Given the description of an element on the screen output the (x, y) to click on. 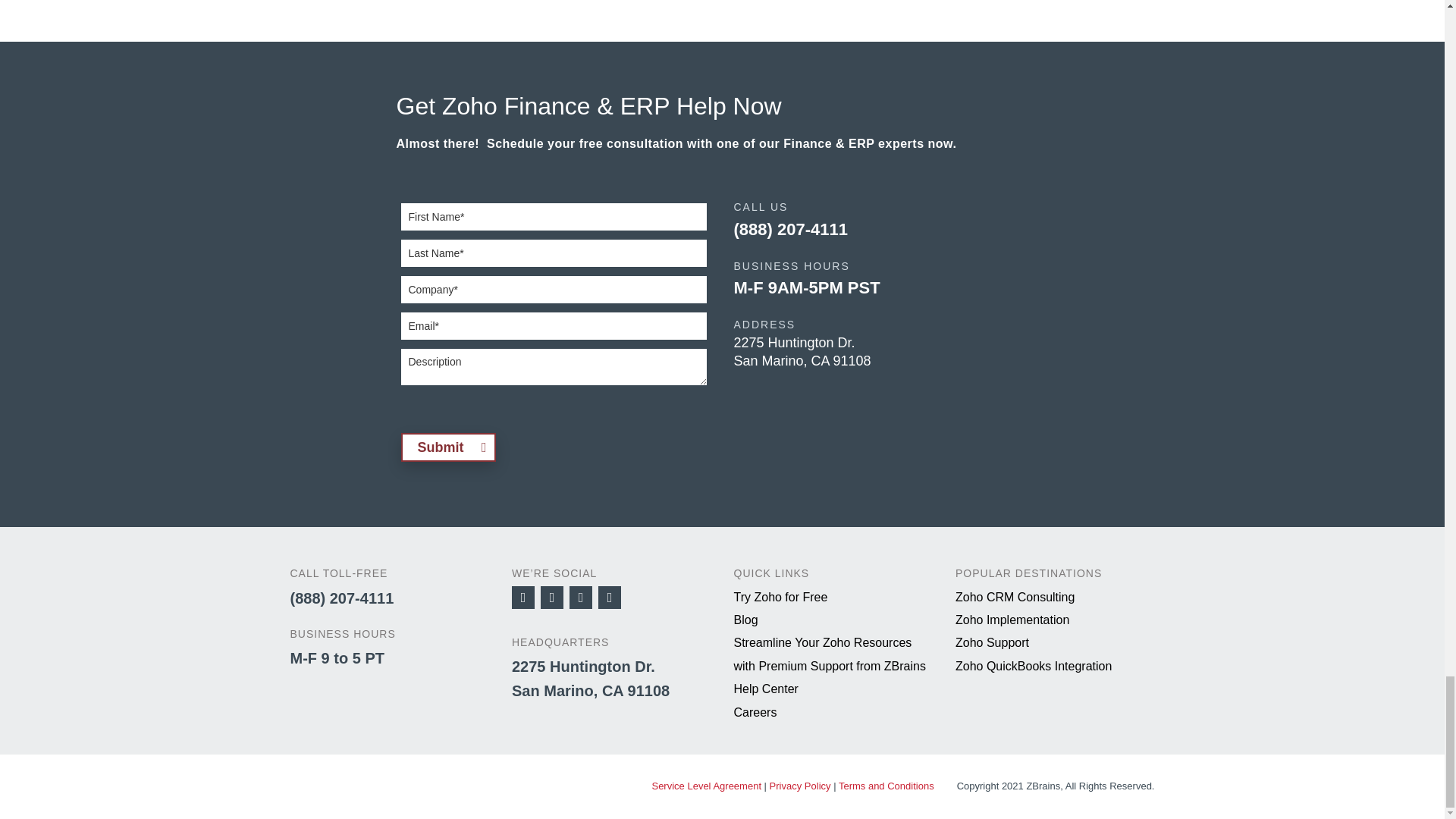
Submit (447, 447)
youtube (580, 597)
twitter (551, 597)
Submit (447, 447)
facebook (523, 597)
linkedin (609, 597)
